Given the description of an element on the screen output the (x, y) to click on. 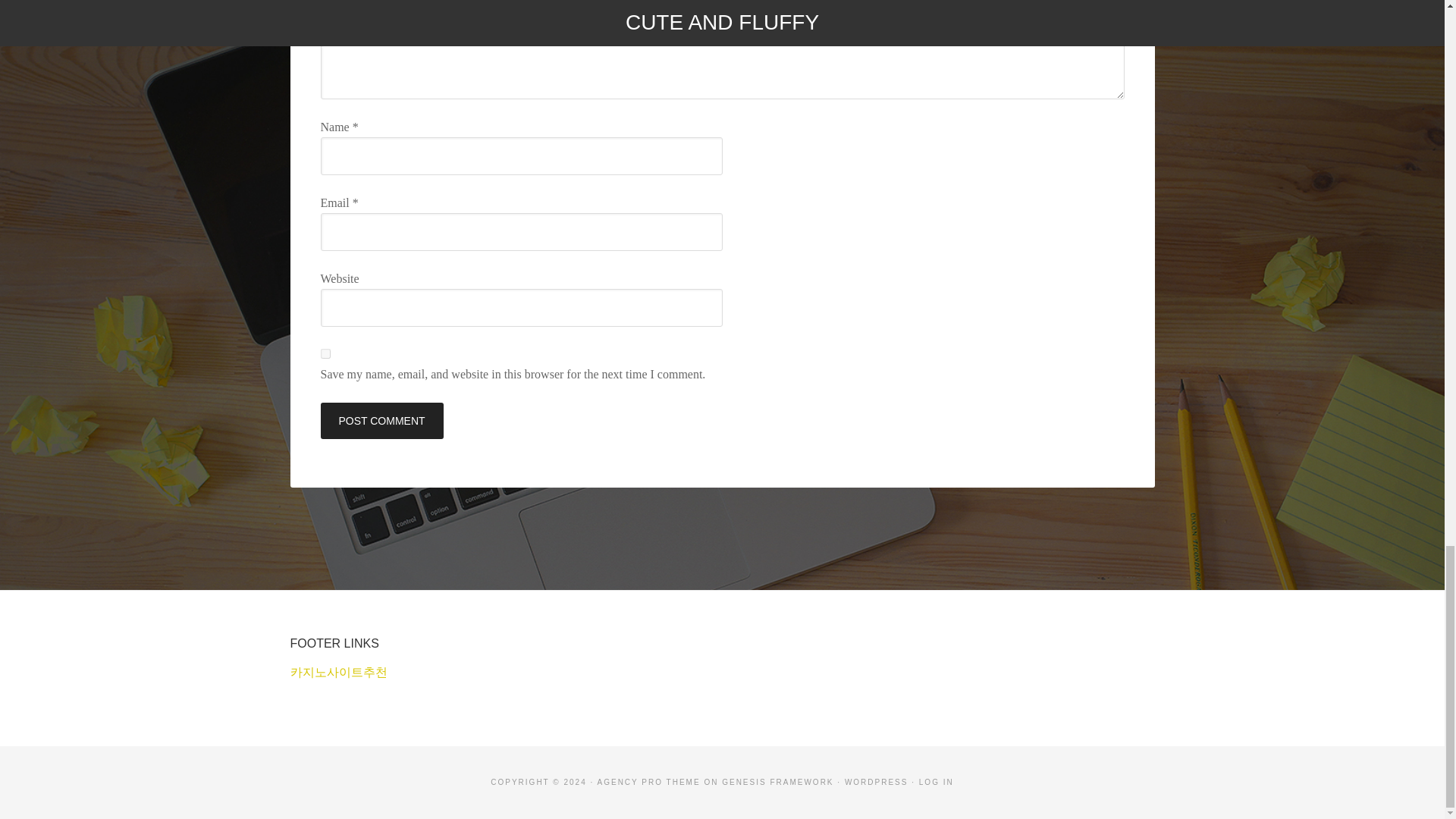
GENESIS FRAMEWORK (777, 782)
WORDPRESS (876, 782)
Post Comment (381, 420)
yes (325, 353)
AGENCY PRO THEME (648, 782)
LOG IN (935, 782)
Post Comment (381, 420)
